Given the description of an element on the screen output the (x, y) to click on. 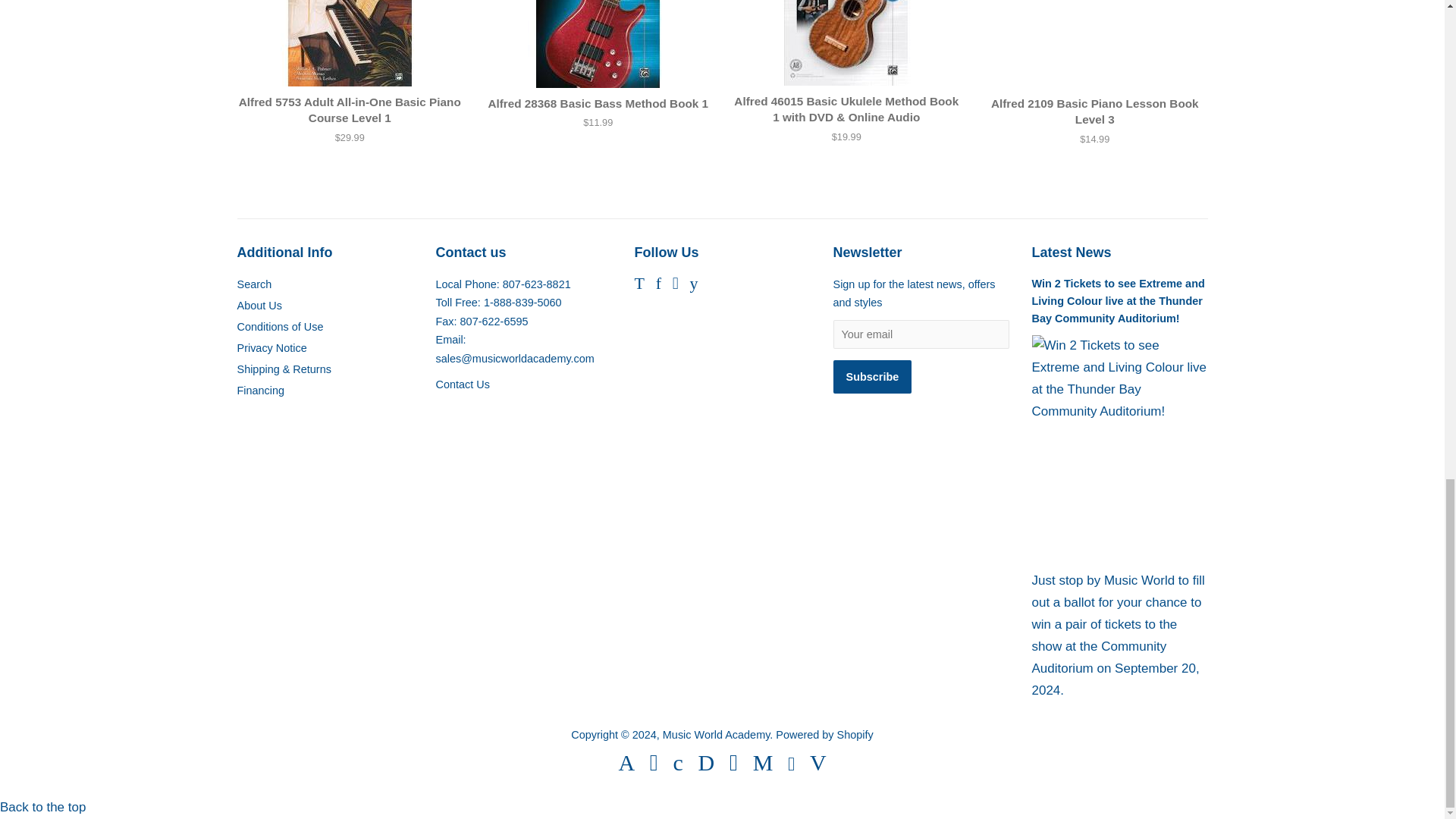
Subscribe (871, 376)
Contact Us (462, 384)
Back to the top (42, 807)
